Given the description of an element on the screen output the (x, y) to click on. 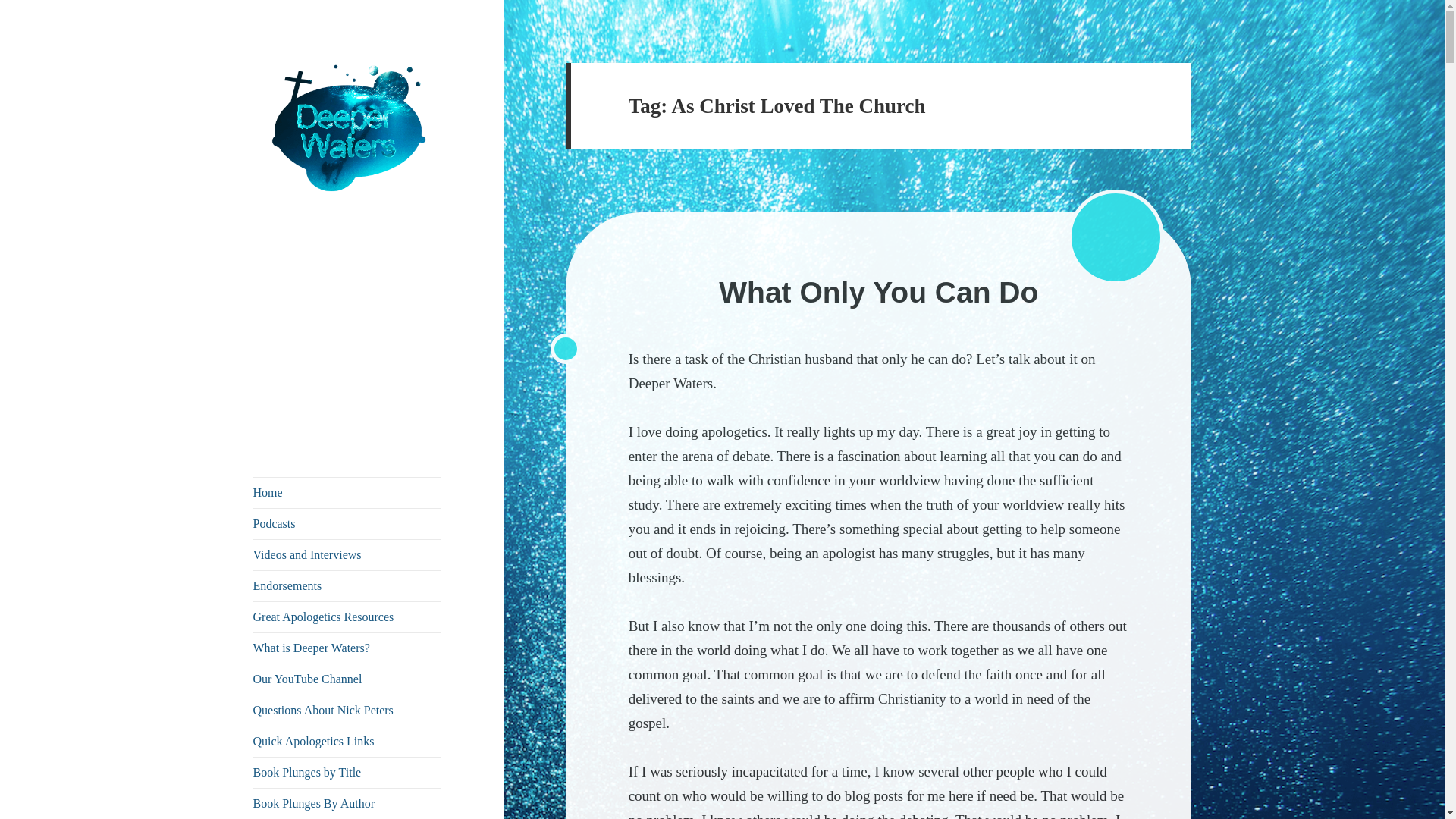
Book Plunges By Author (347, 803)
Videos and Interviews (347, 554)
Quick Apologetics Links (347, 741)
Questions About Nick Peters (347, 710)
What is Deeper Waters? (347, 648)
Book Plunges by Title (347, 772)
Our YouTube Channel (347, 679)
Endorsements (347, 585)
Home (347, 492)
Great Apologetics Resources (347, 616)
